Given the description of an element on the screen output the (x, y) to click on. 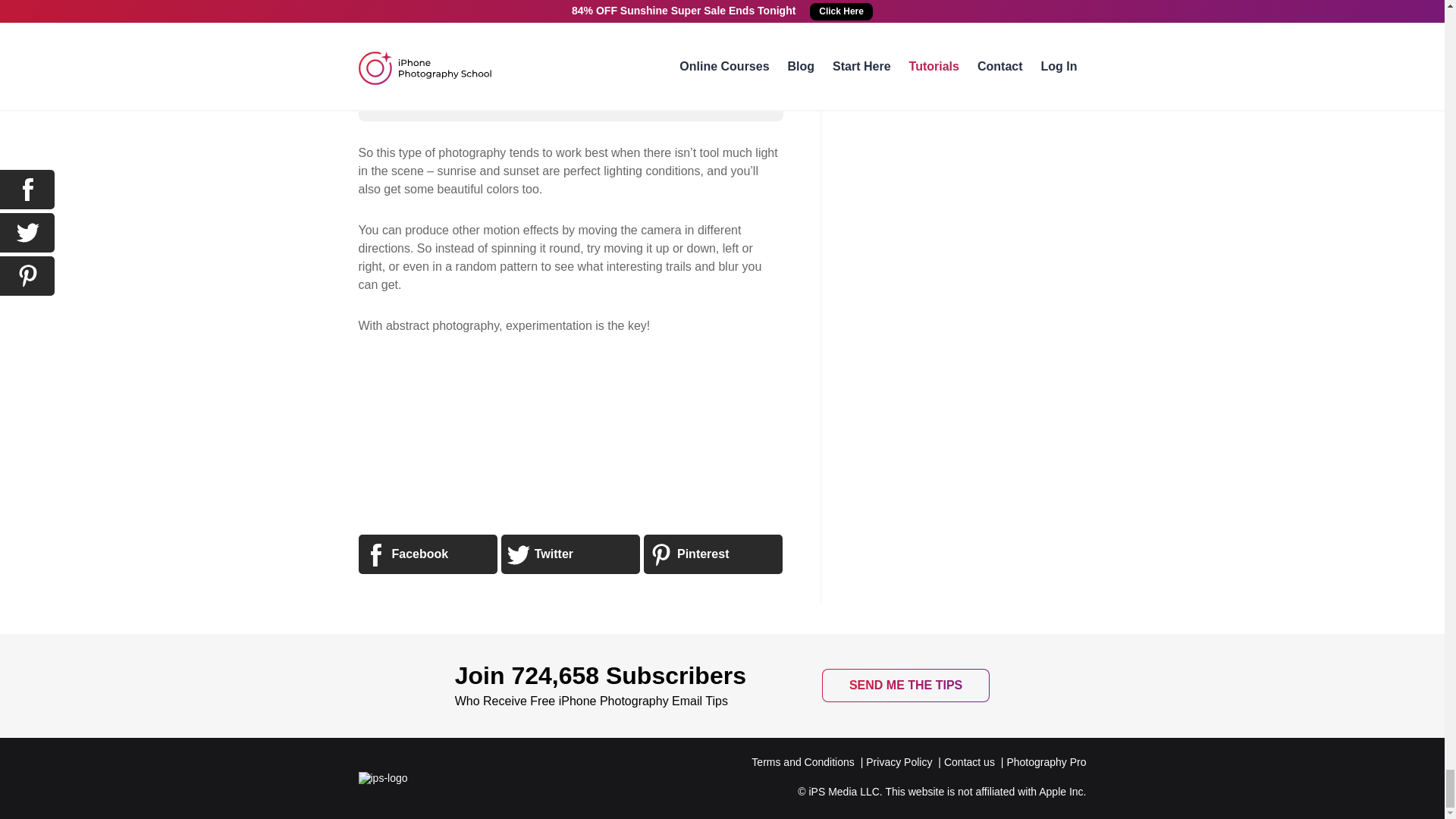
SEND ME THE TIPS (906, 685)
Twitter (570, 554)
Pinterest (713, 554)
Facebook (427, 554)
